Given the description of an element on the screen output the (x, y) to click on. 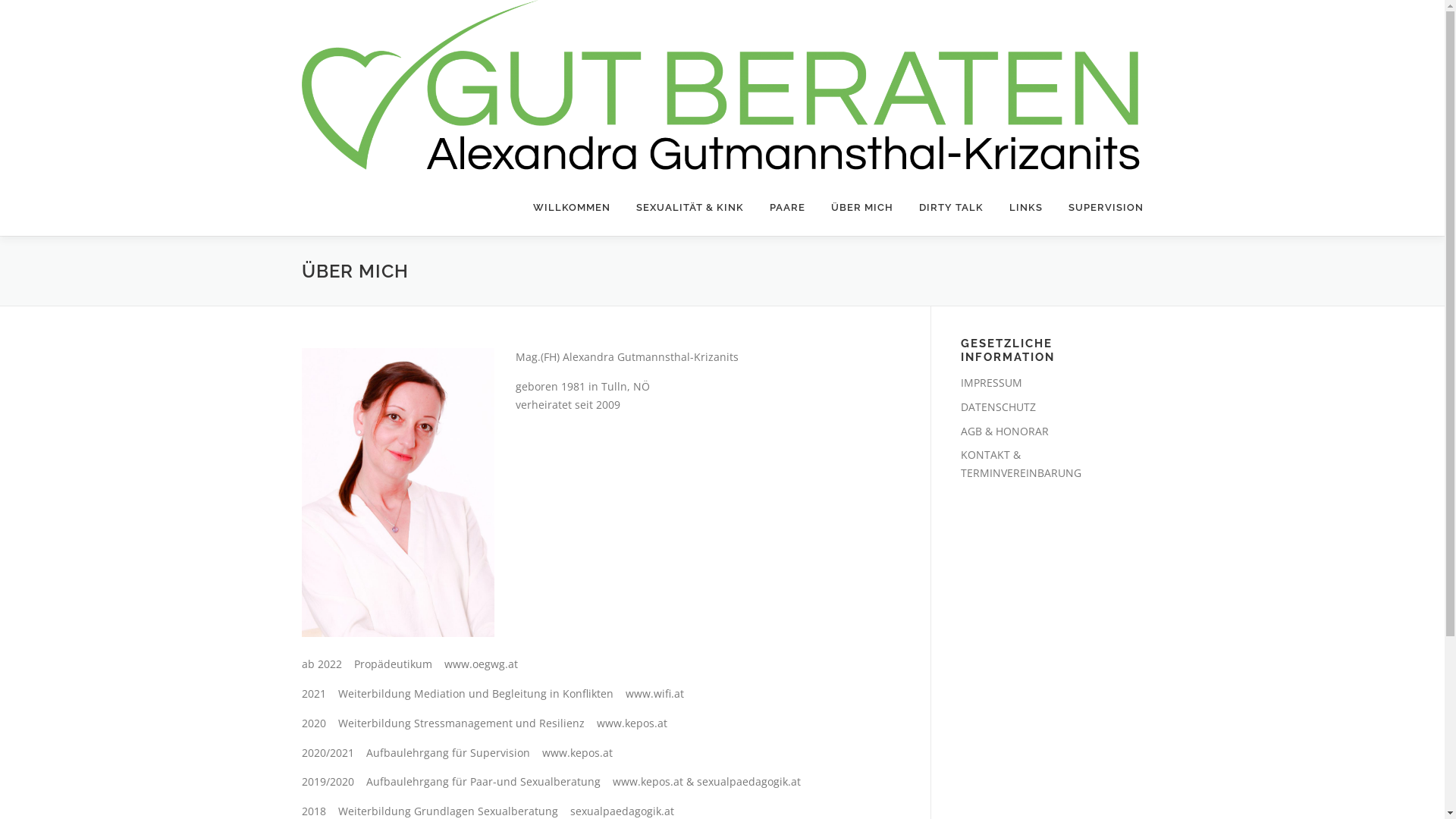
SUPERVISION Element type: text (1099, 206)
DATENSCHUTZ Element type: text (997, 406)
WILLKOMMEN Element type: text (571, 206)
IMPRESSUM Element type: text (990, 382)
DIRTY TALK Element type: text (950, 206)
LINKS Element type: text (1025, 206)
PAARE Element type: text (787, 206)
KONTAKT & TERMINVEREINBARUNG Element type: text (1020, 463)
AGB & HONORAR Element type: text (1004, 430)
